Given the description of an element on the screen output the (x, y) to click on. 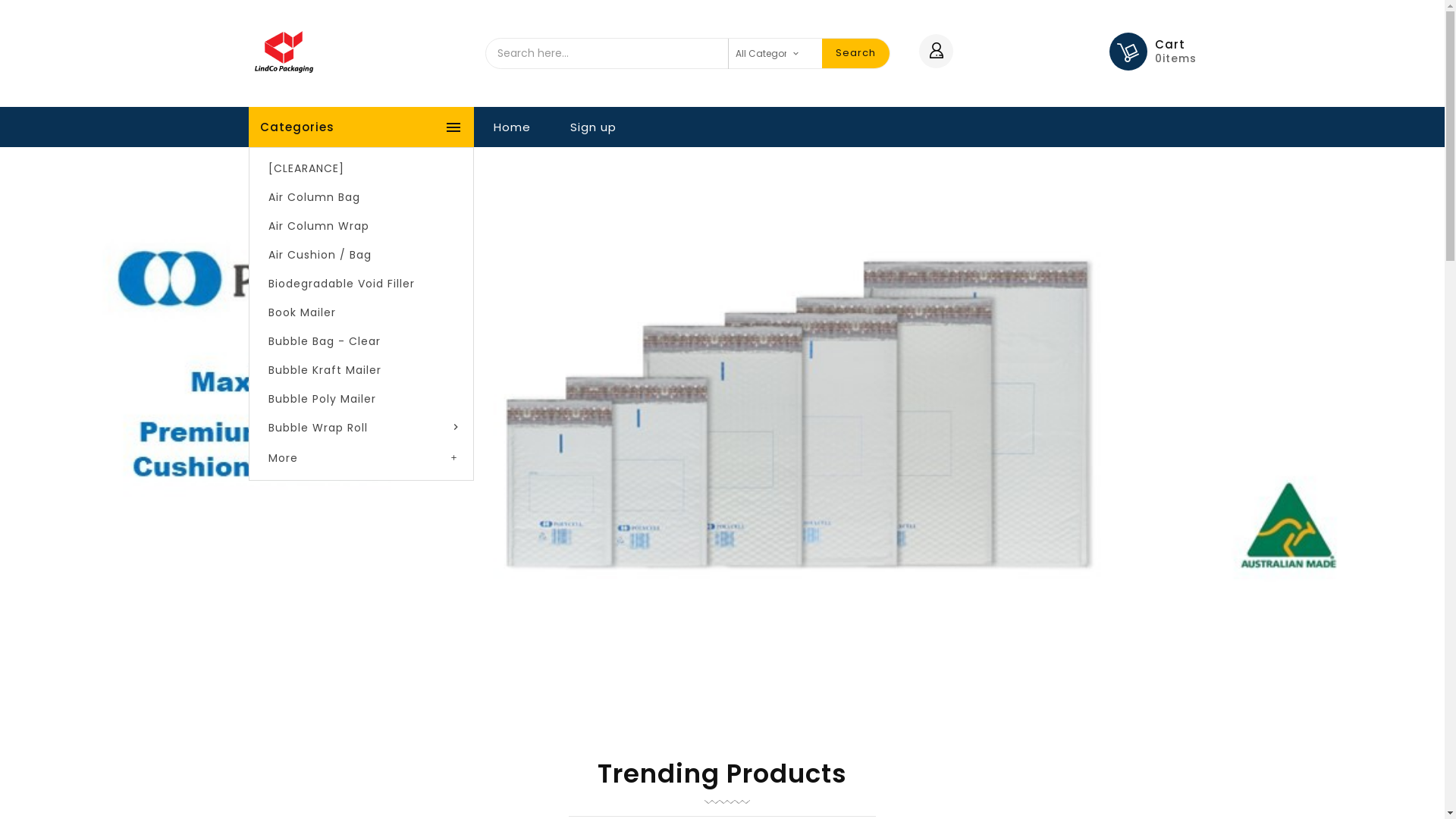
Biodegradable Void Filler Element type: text (360, 283)
Home Element type: text (511, 126)
Book Mailer Element type: text (360, 312)
Bubble Kraft Mailer Element type: text (360, 369)
Air Column Bag Element type: text (360, 196)
Air Column Wrap Element type: text (360, 225)
Air Cushion / Bag Element type: text (360, 254)
Bubble Bag - Clear Element type: text (360, 340)
Bubble Poly Mailer Element type: text (360, 398)
[CLEARANCE] Element type: text (360, 167)
Cart
0items Element type: text (1174, 51)
Sign up Element type: text (593, 126)
Search Element type: text (855, 53)
